Given the description of an element on the screen output the (x, y) to click on. 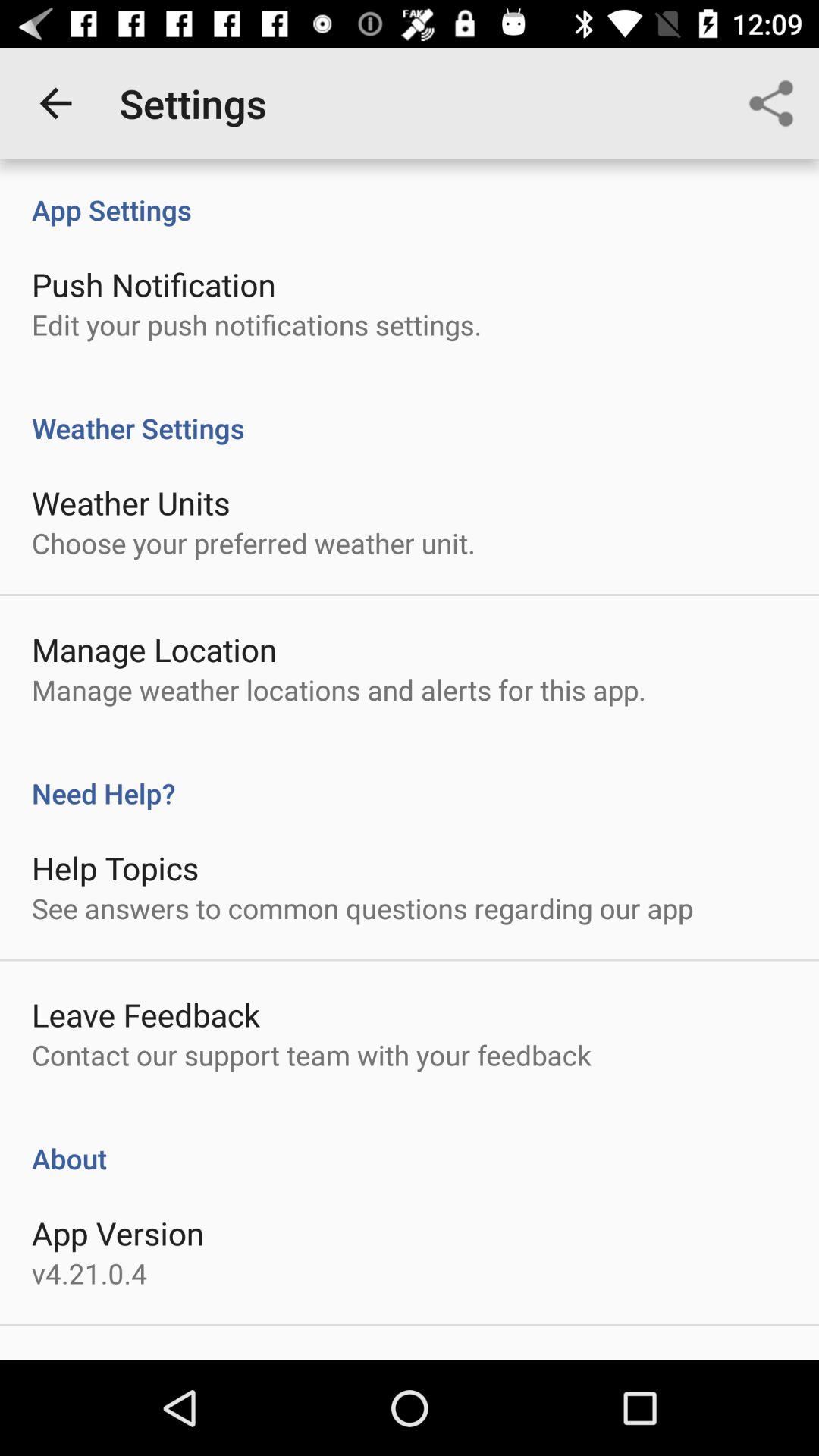
choose app to the left of settings  item (55, 103)
